Given the description of an element on the screen output the (x, y) to click on. 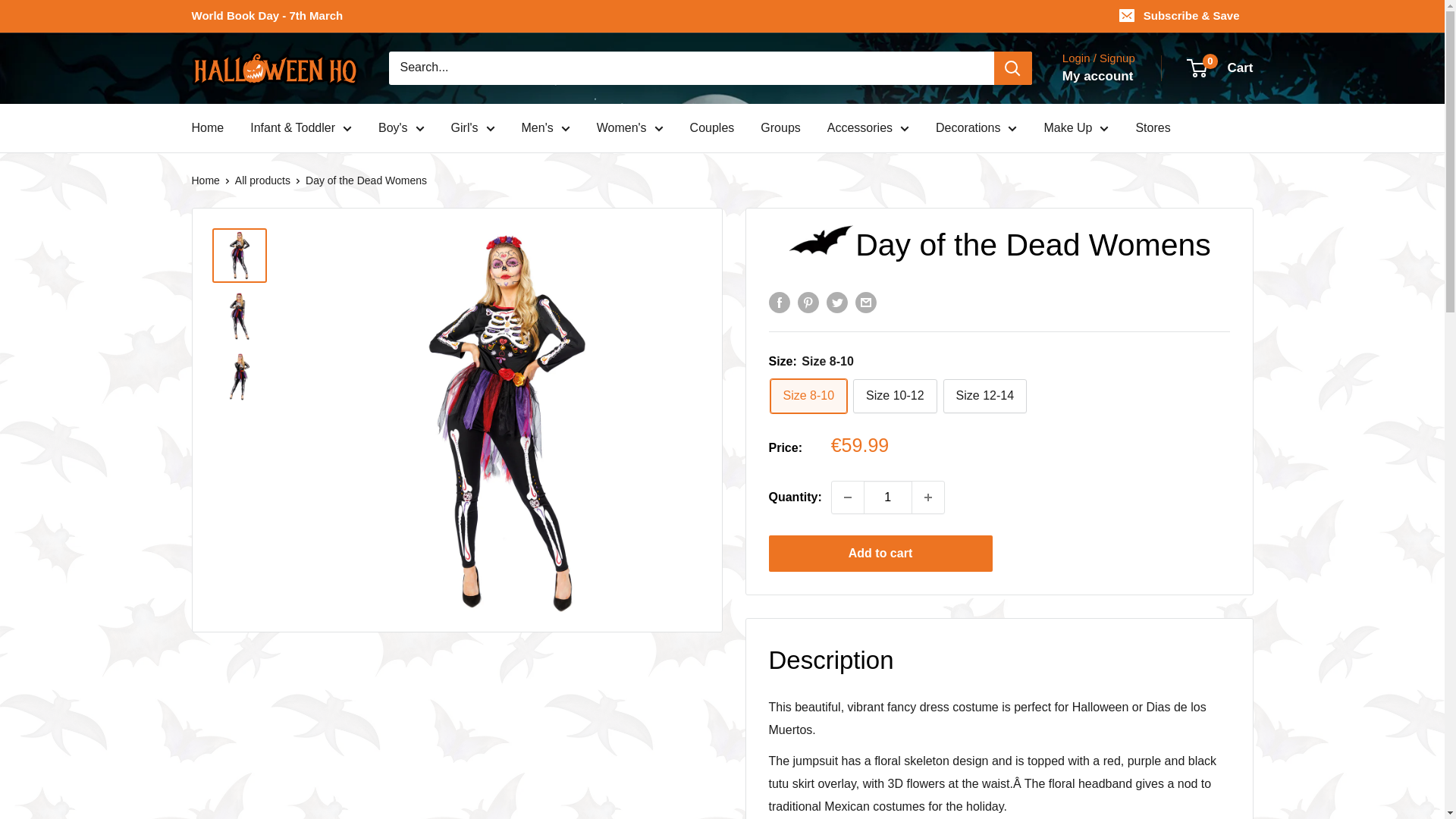
Size 10-12 (895, 396)
1 (887, 497)
Size 12-14 (985, 396)
Size 8-10 (808, 396)
Increase quantity by 1 (927, 497)
Decrease quantity by 1 (847, 497)
